Given the description of an element on the screen output the (x, y) to click on. 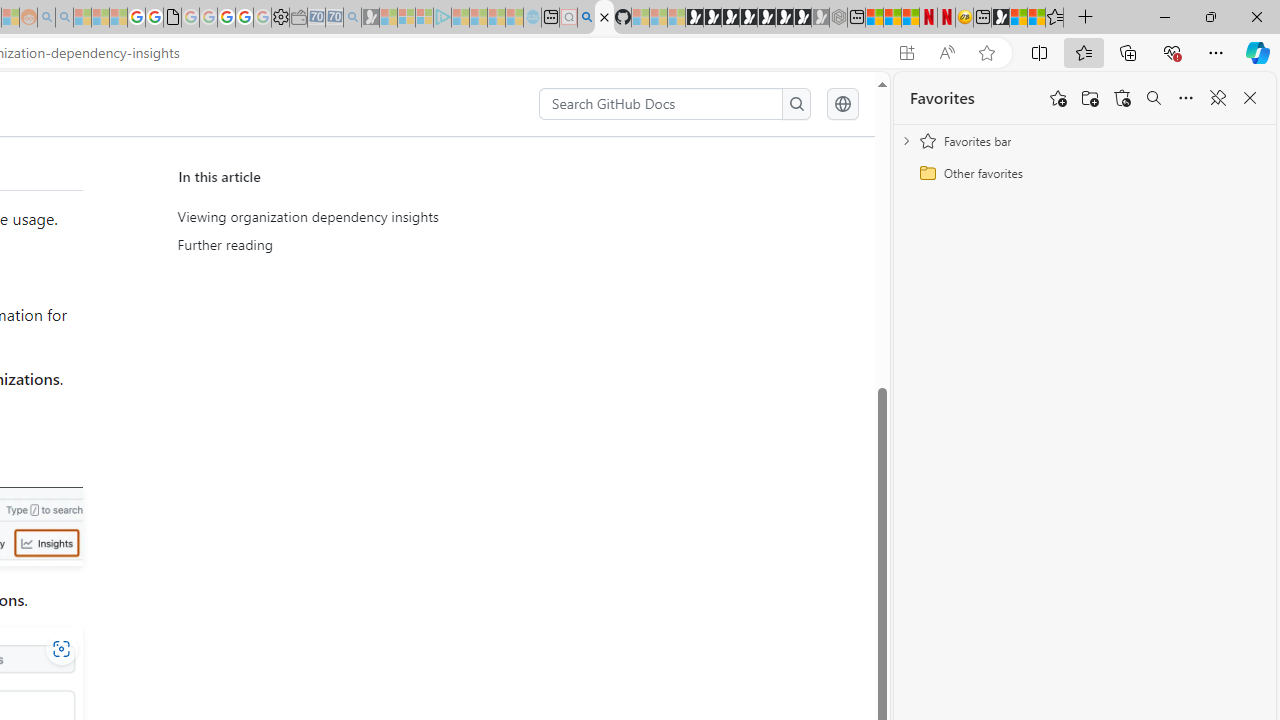
Further reading (365, 245)
Close favorites (1250, 98)
github - Search (586, 17)
App available. Install GitHub Docs (906, 53)
